Given the description of an element on the screen output the (x, y) to click on. 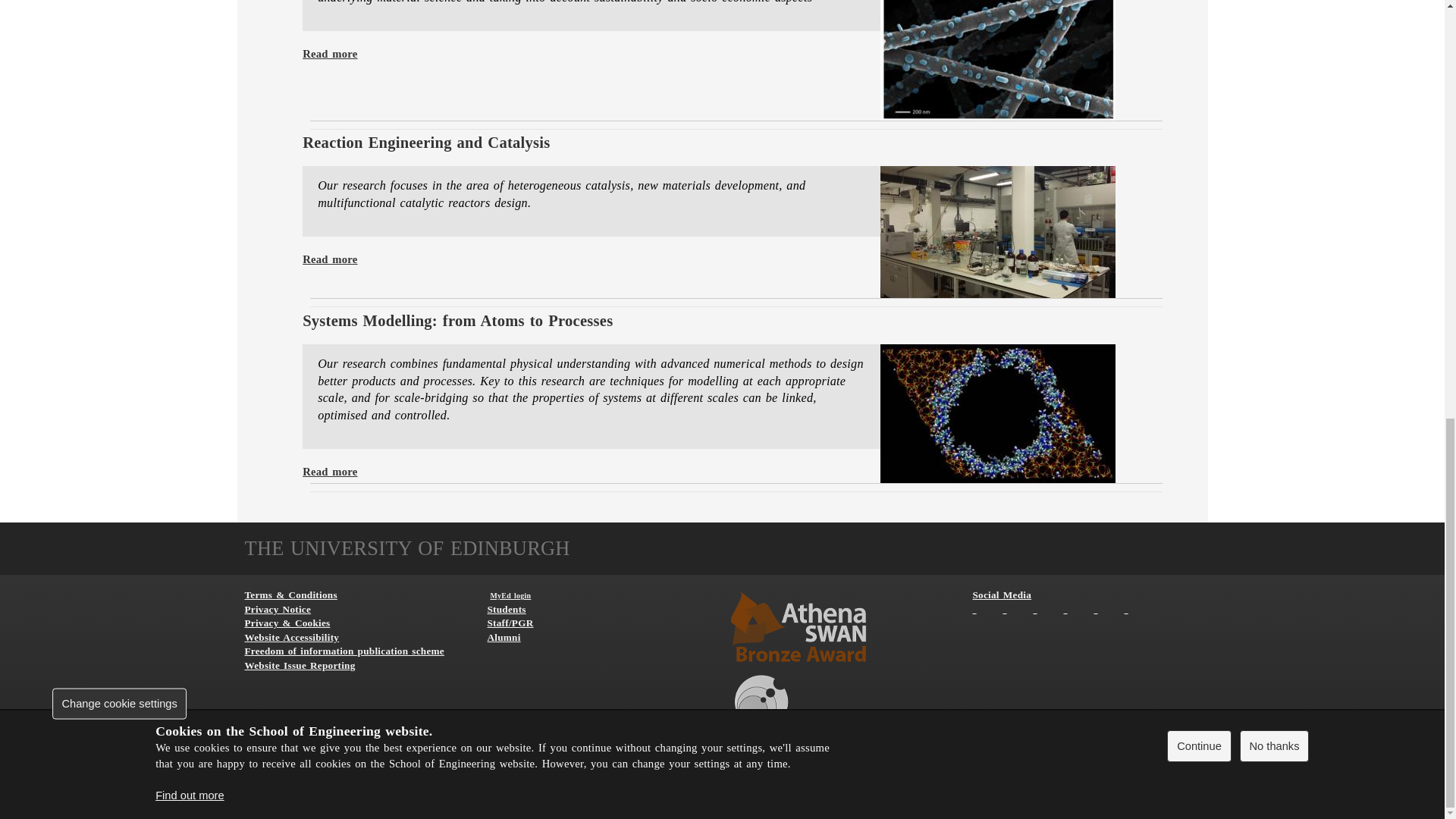
Read more (329, 471)
Read more (329, 259)
Systems Modelling: from Atoms to Processes (457, 320)
Read more (329, 53)
Reaction Engineering and Catalysis (426, 142)
